Given the description of an element on the screen output the (x, y) to click on. 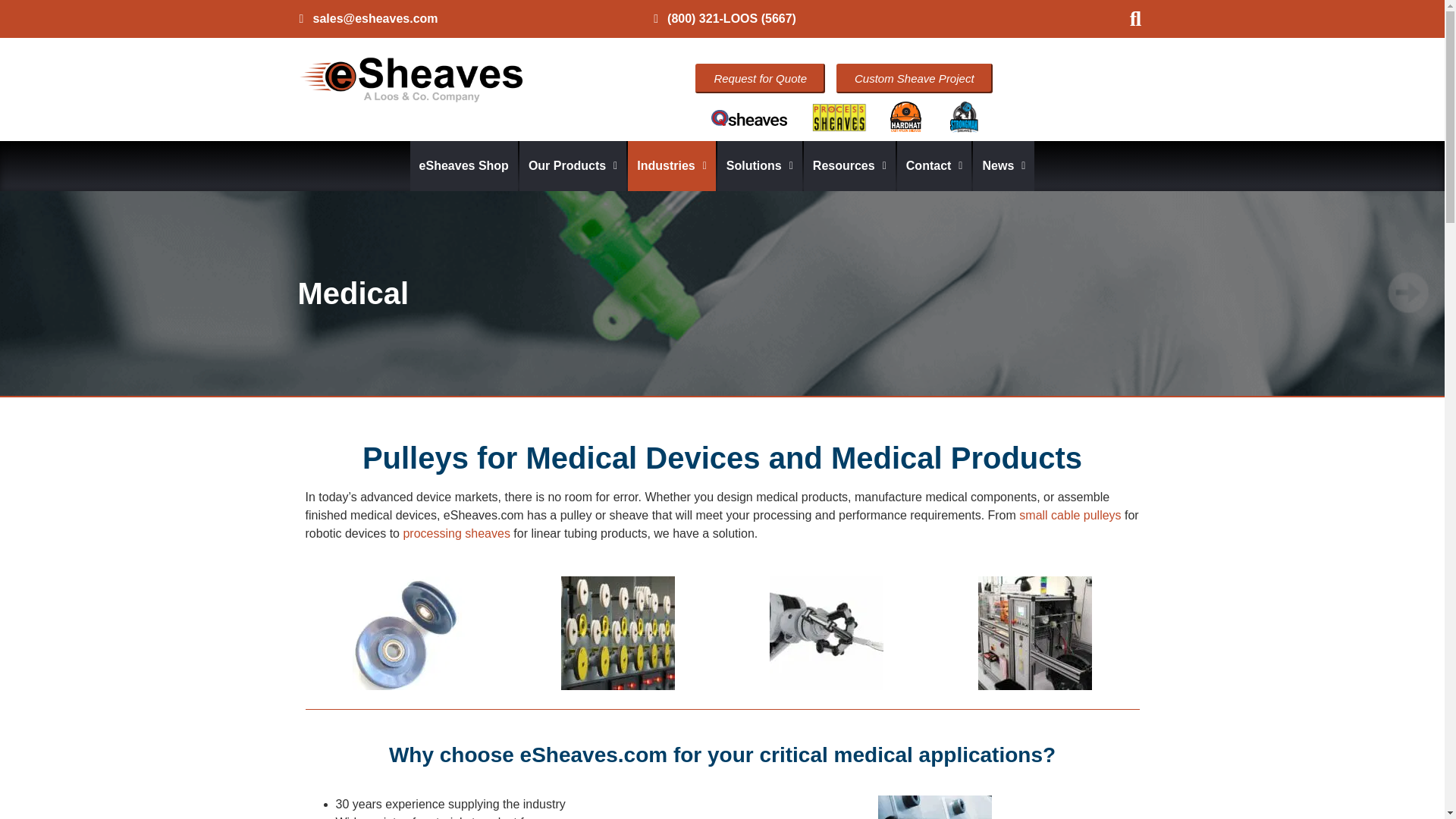
Solutions (759, 165)
Contact (934, 165)
Custom Sheave Project (913, 78)
eSheaves Shop (464, 165)
Industries (671, 165)
Request for Quote (760, 78)
Our Products (572, 165)
Resources (849, 165)
